Given the description of an element on the screen output the (x, y) to click on. 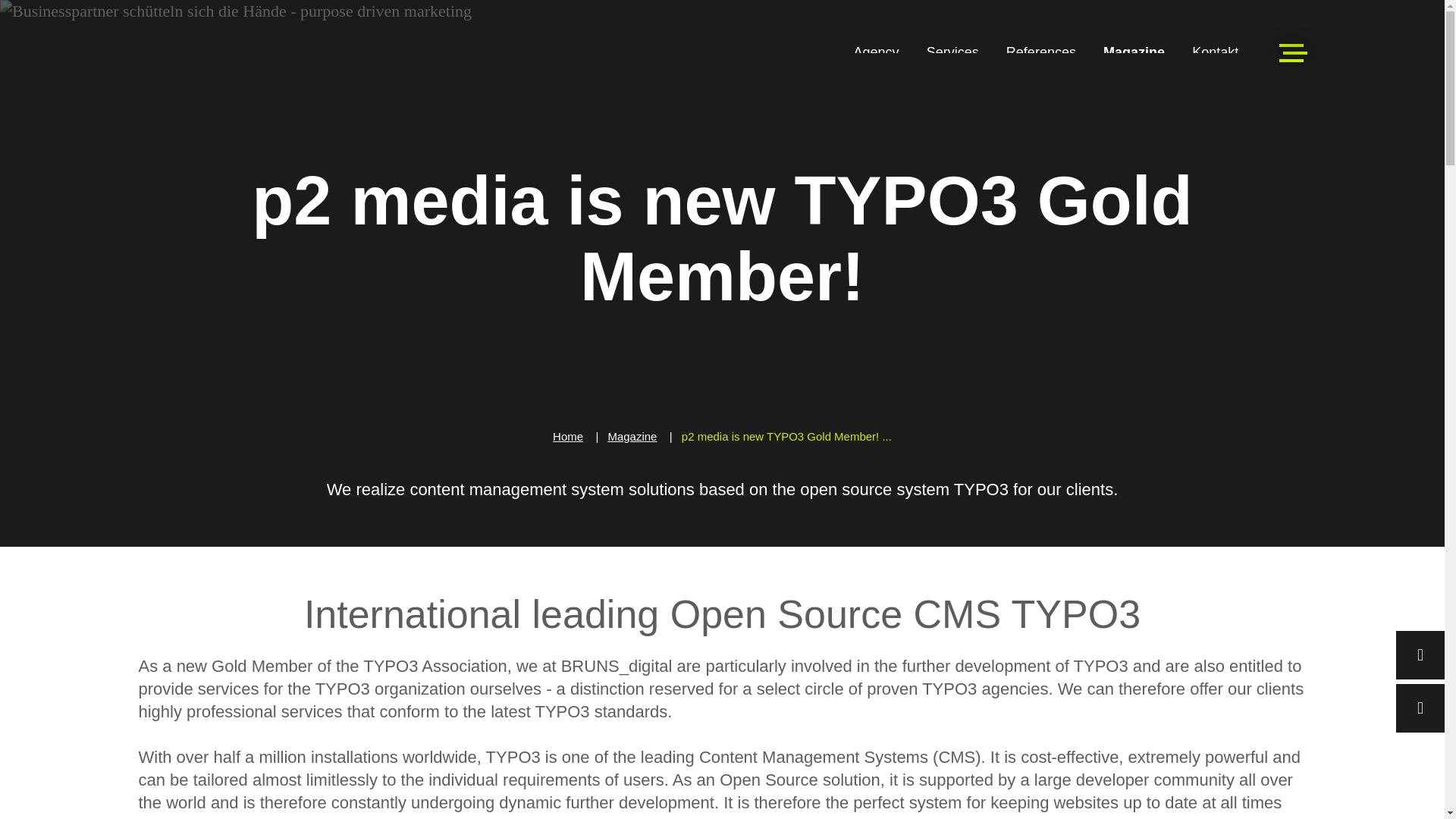
Agency (877, 52)
Agency (877, 52)
References (1040, 52)
Services (952, 52)
References (1040, 52)
Kontakt (1214, 52)
Magazine (1134, 52)
Magazine (1134, 52)
Services (952, 52)
Kontakt (1214, 52)
